Given the description of an element on the screen output the (x, y) to click on. 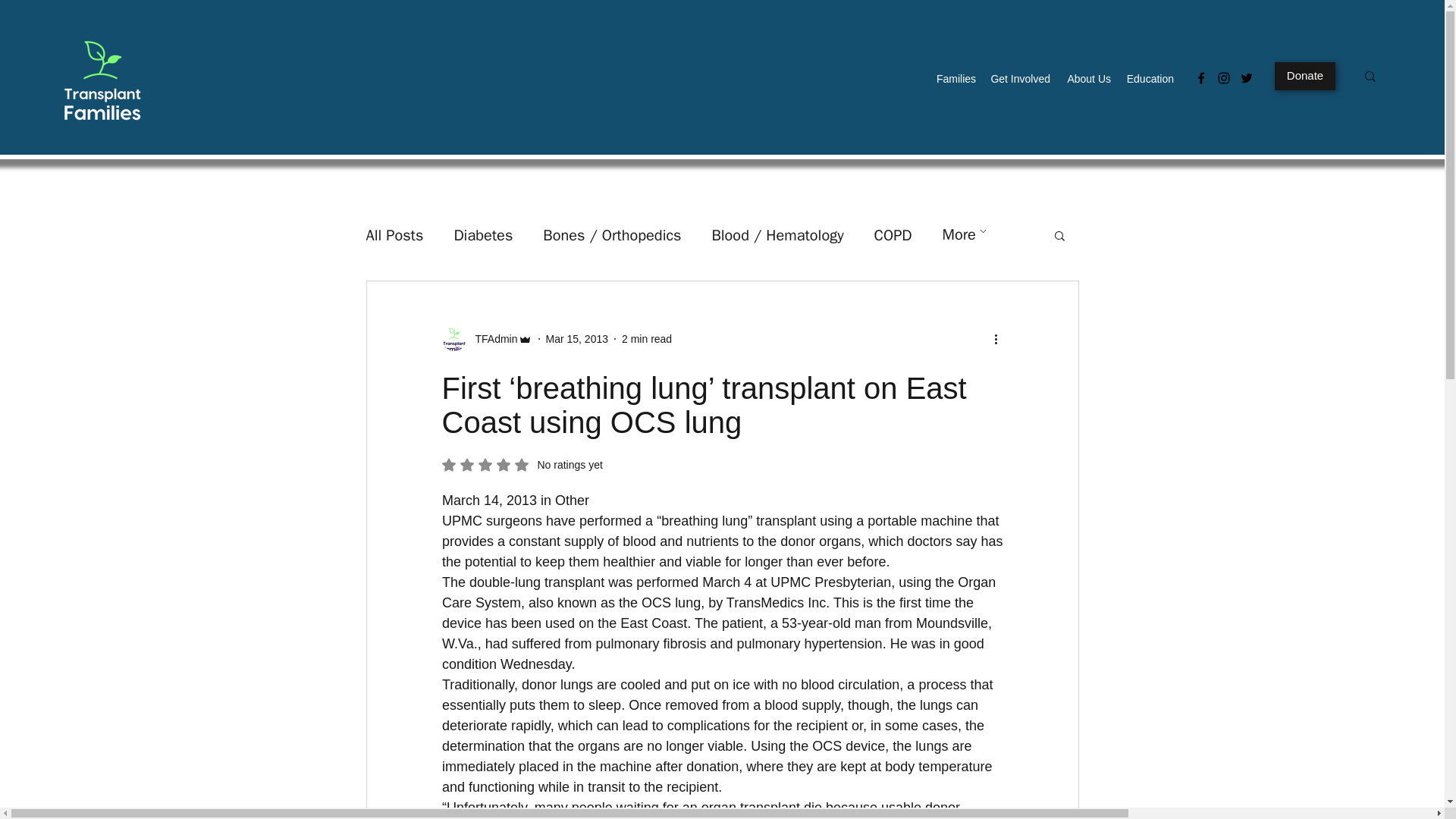
COPD (893, 234)
Mar 15, 2013 (577, 337)
All Posts (394, 234)
2 min read (646, 337)
Diabetes (482, 234)
TFAdmin (490, 338)
Wix Chat (1303, 774)
Donate (1305, 76)
TFAdmin (486, 338)
